Given the description of an element on the screen output the (x, y) to click on. 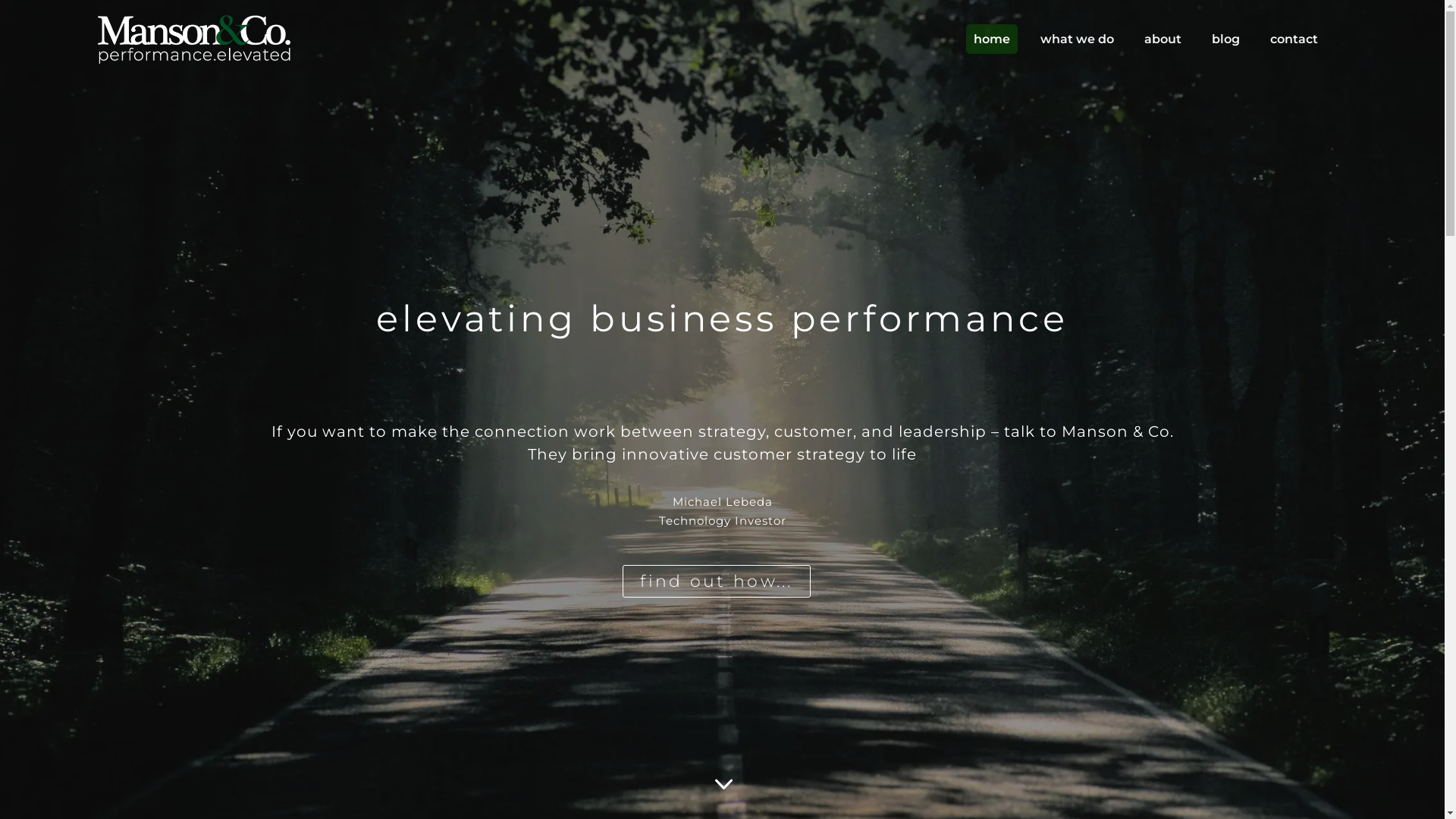
find out how... Element type: text (716, 580)
what we do Element type: text (1076, 56)
about Element type: text (1162, 56)
home Element type: text (991, 56)
blog Element type: text (1225, 56)
contact Element type: text (1293, 56)
3 Element type: text (722, 783)
